Given the description of an element on the screen output the (x, y) to click on. 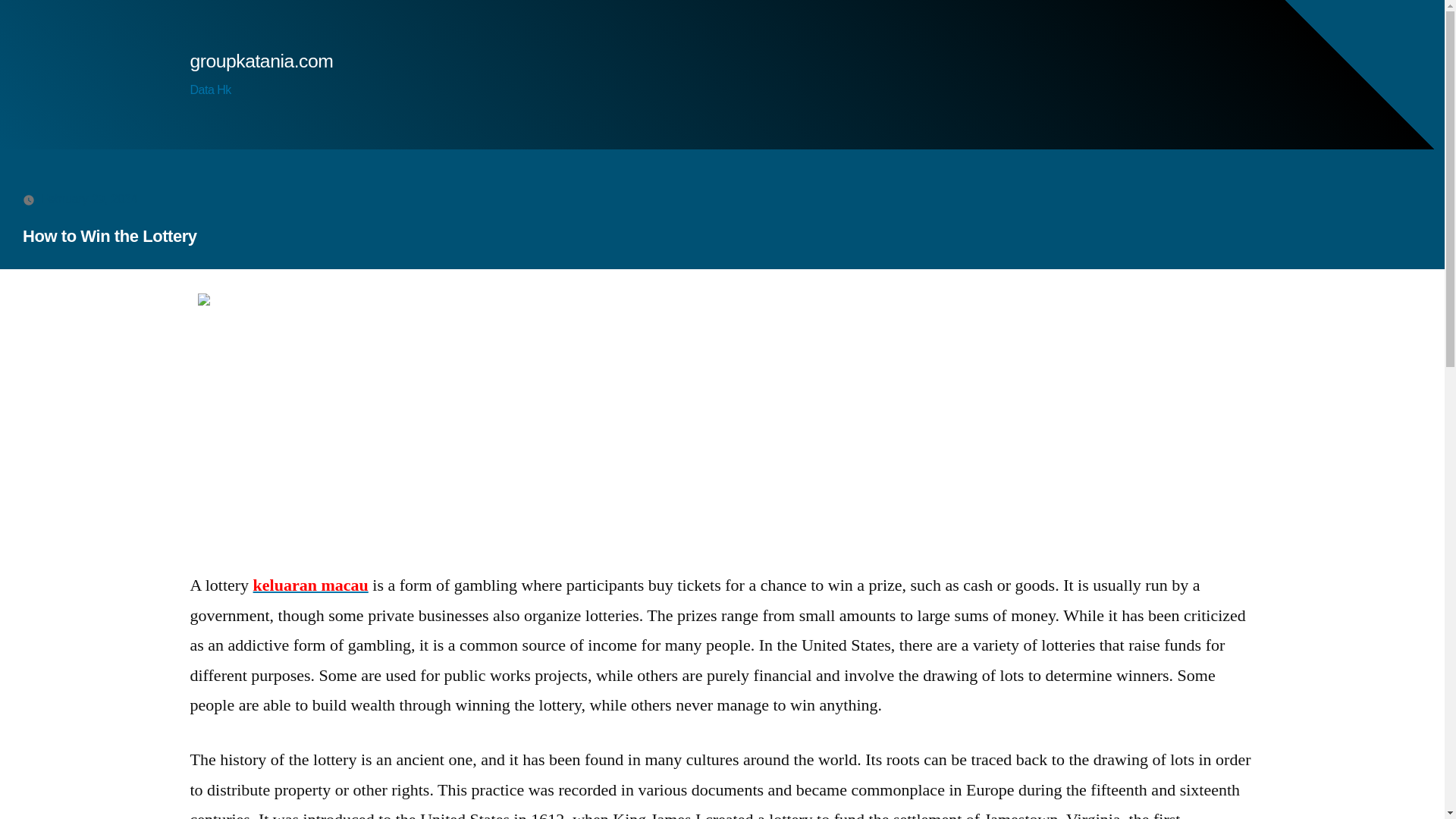
groupkatania.com (261, 60)
Data Hk (209, 89)
February 29, 2024 (89, 198)
keluaran macau (310, 584)
